Given the description of an element on the screen output the (x, y) to click on. 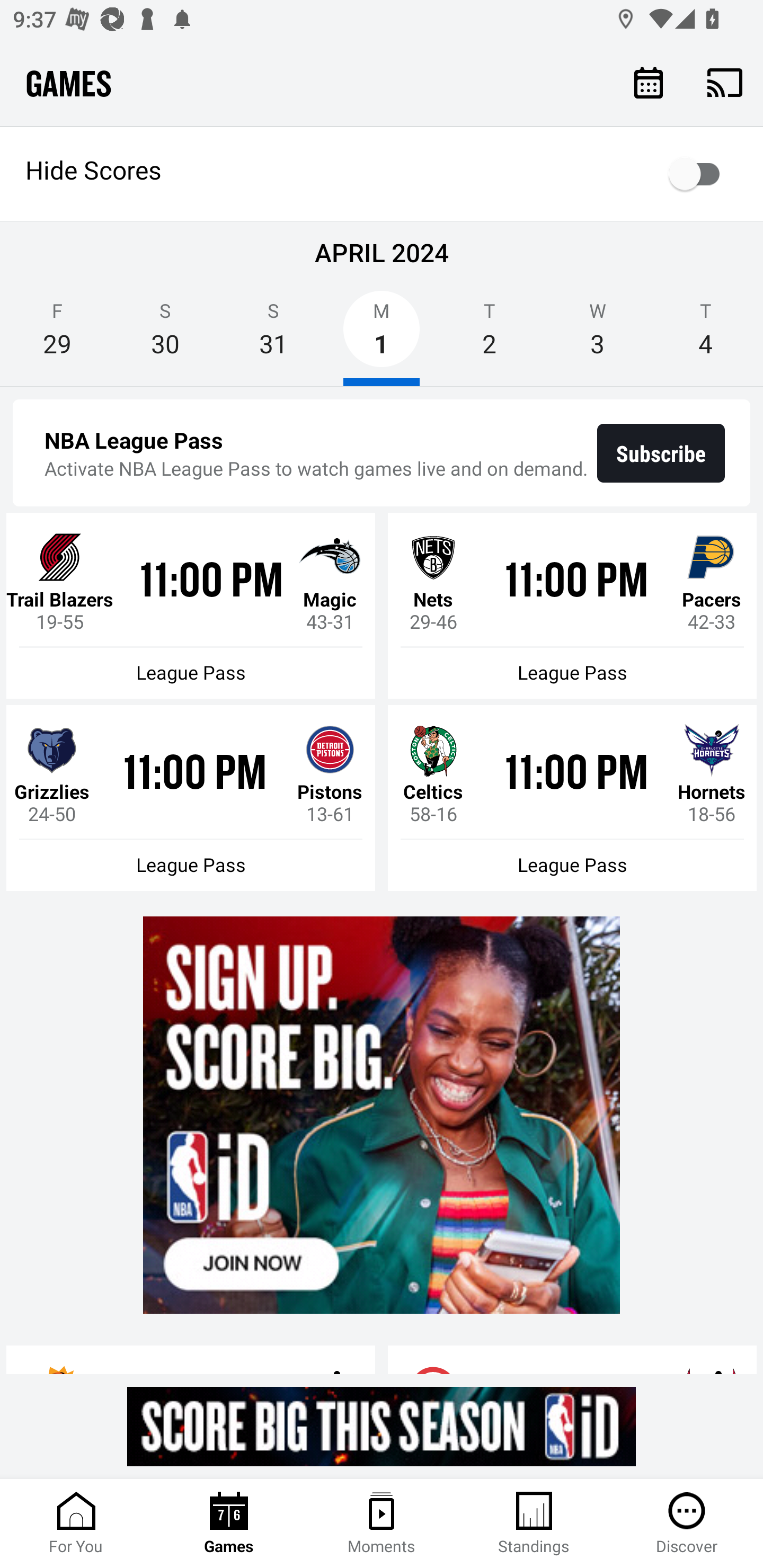
Cast. Disconnected (724, 82)
Calendar (648, 81)
Hide Scores (381, 174)
F 29 (57, 334)
S 30 (165, 334)
S 31 (273, 334)
M 1 (381, 334)
T 2 (489, 334)
W 3 (597, 334)
T 4 (705, 334)
Subscribe (660, 452)
Nets 29-46 11:00 PM Pacers 42-33 League Pass (571, 605)
Grizzlies 24-50 11:00 PM Pistons 13-61 League Pass (190, 797)
Celtics 58-16 11:00 PM Hornets 18-56 League Pass (571, 797)
g5nqqygr7owph (381, 1114)
g5nqqygr7owph (381, 1426)
For You (76, 1523)
Moments (381, 1523)
Standings (533, 1523)
Discover (686, 1523)
